Given the description of an element on the screen output the (x, y) to click on. 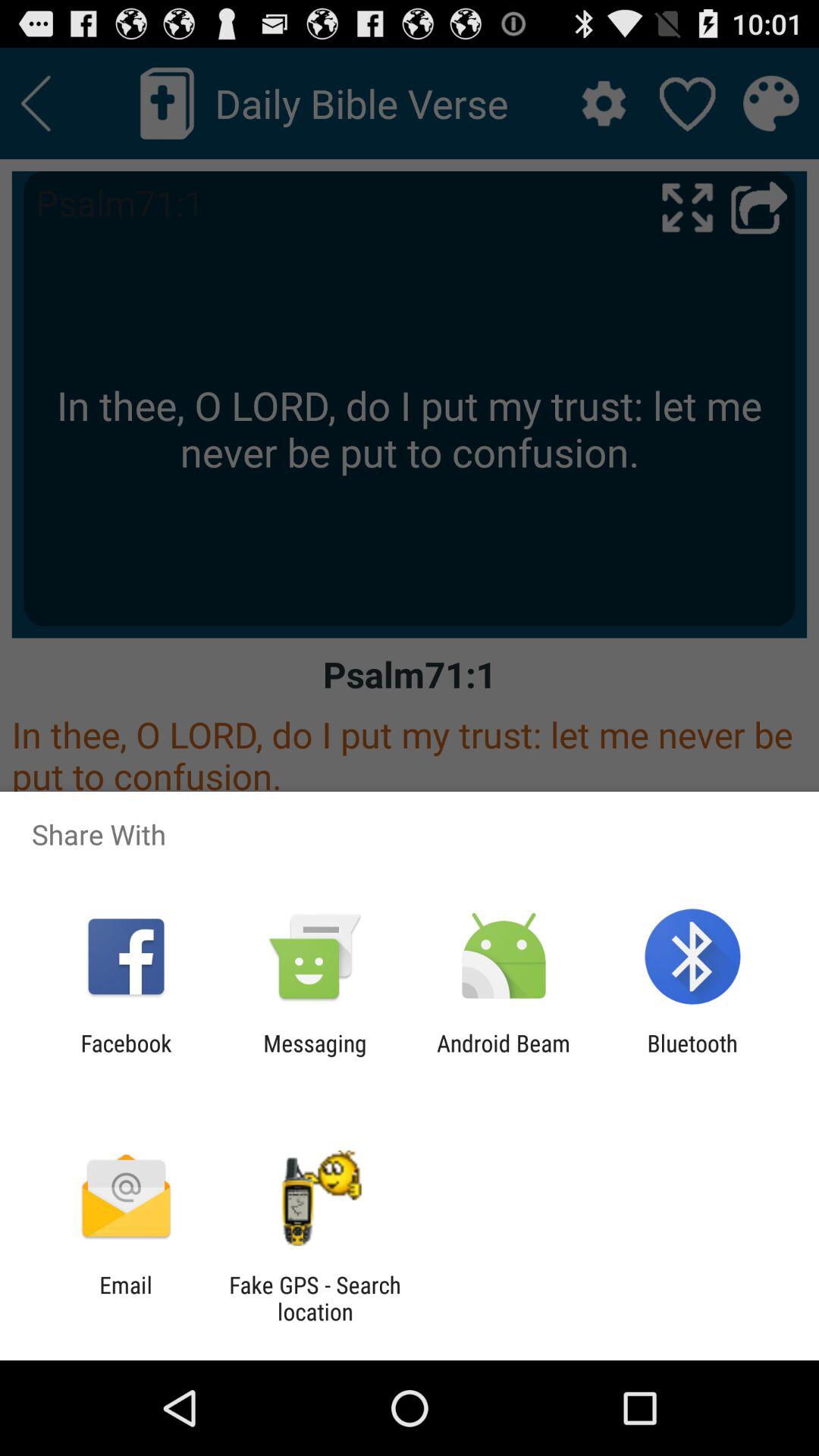
swipe to the facebook item (125, 1056)
